Given the description of an element on the screen output the (x, y) to click on. 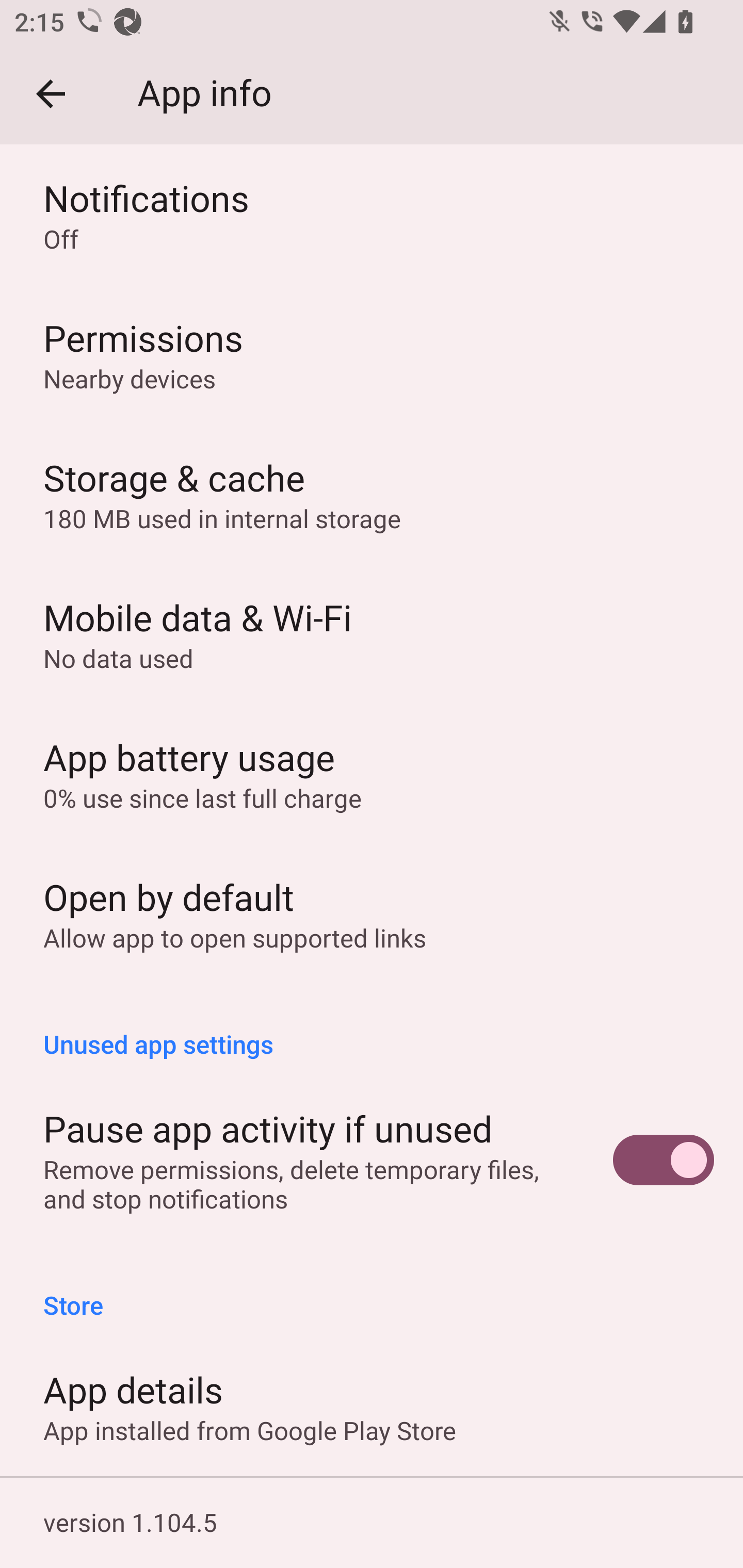
Navigate up (50, 93)
Notifications Off (371, 214)
Permissions Nearby devices (371, 354)
Storage & cache 180 MB used in internal storage (371, 494)
Mobile data & Wi‑Fi No data used (371, 634)
App battery usage 0% use since last full charge (371, 773)
Open by default Allow app to open supported links (371, 913)
App details App installed from Google Play Store (371, 1405)
